Given the description of an element on the screen output the (x, y) to click on. 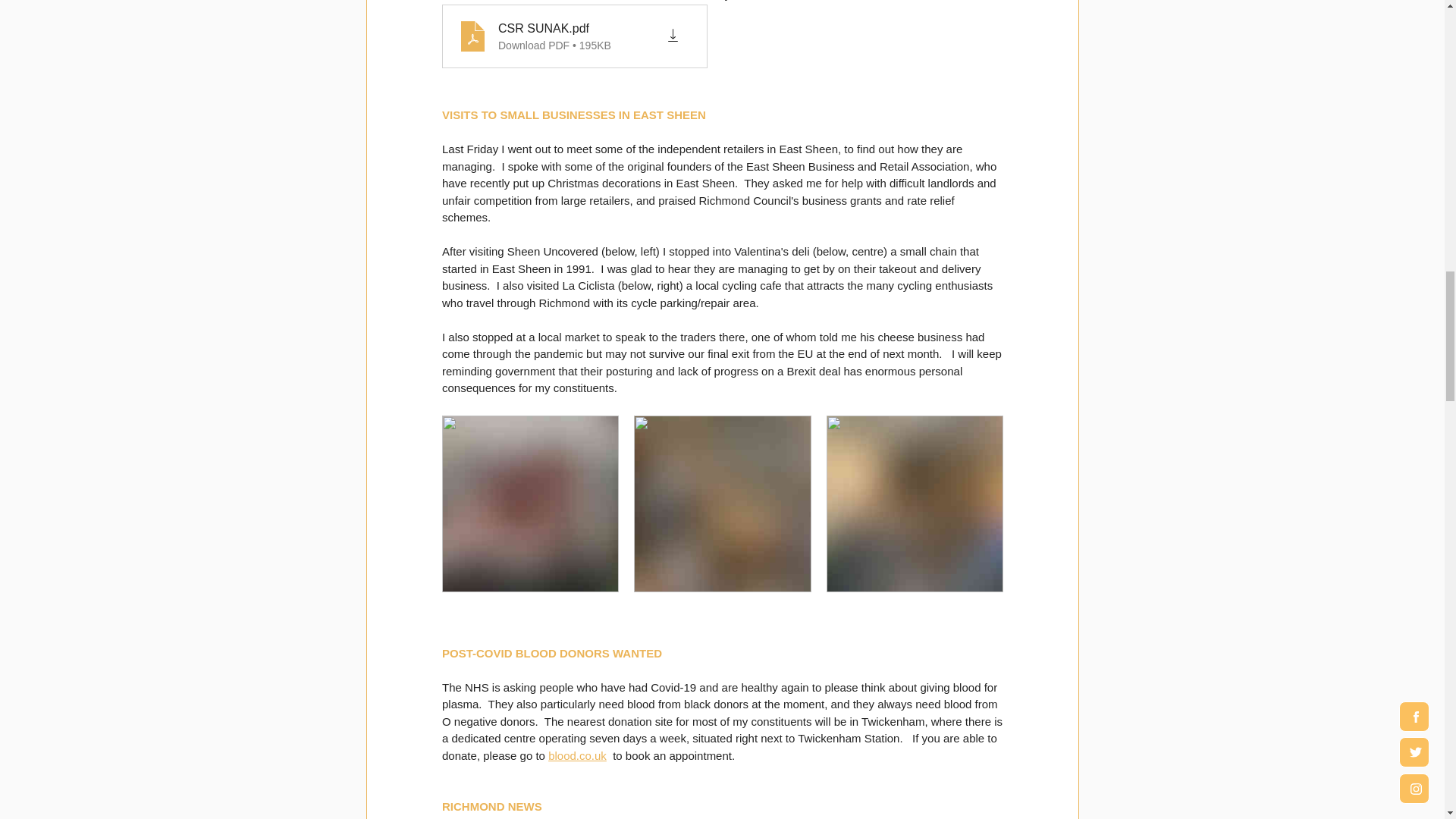
blood.co.uk (577, 755)
